Given the description of an element on the screen output the (x, y) to click on. 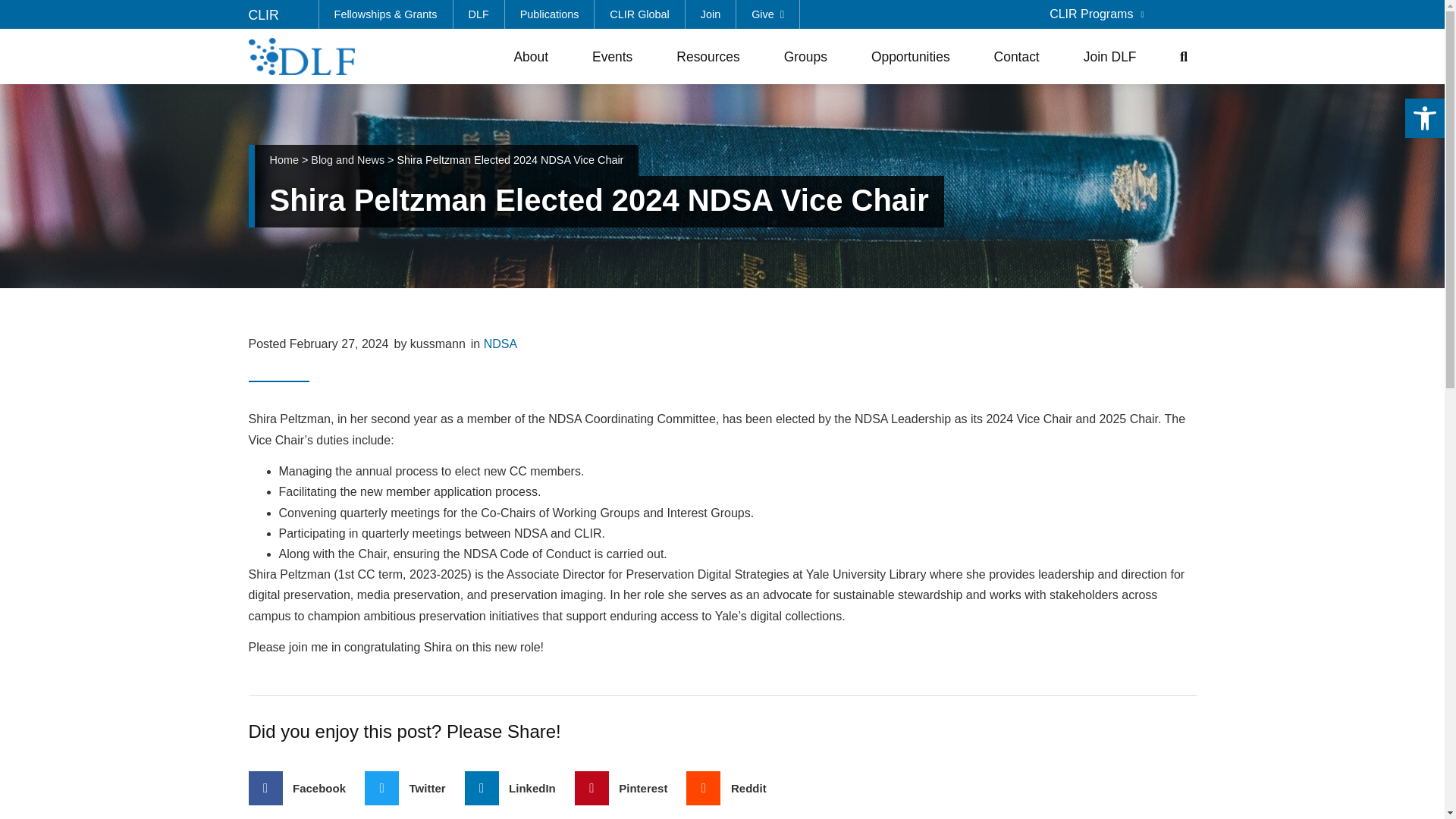
About (533, 56)
DLF (478, 14)
Publications (550, 14)
Give (767, 14)
CLIR Global (639, 14)
CLIR (263, 15)
Join (710, 14)
Accessibility Tools (1424, 118)
CLIR Programs (1095, 13)
